Given the description of an element on the screen output the (x, y) to click on. 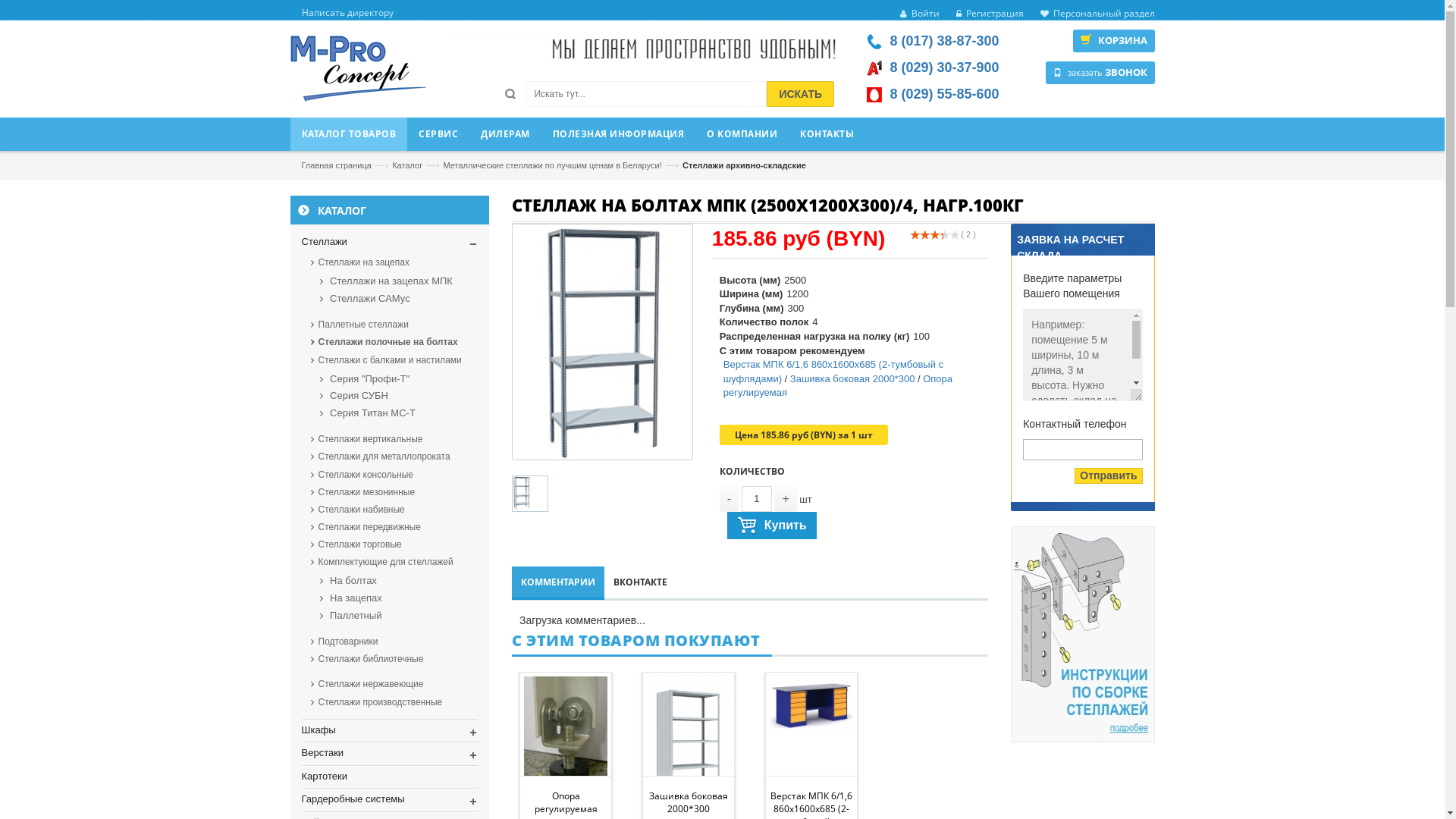
+ Element type: text (785, 498)
- Element type: text (728, 498)
8 (029) 30-37-900 Element type: text (943, 67)
8 (029) 55-85-600 Element type: text (943, 93)
8 (017) 38-87-300 Element type: text (943, 40)
